Given the description of an element on the screen output the (x, y) to click on. 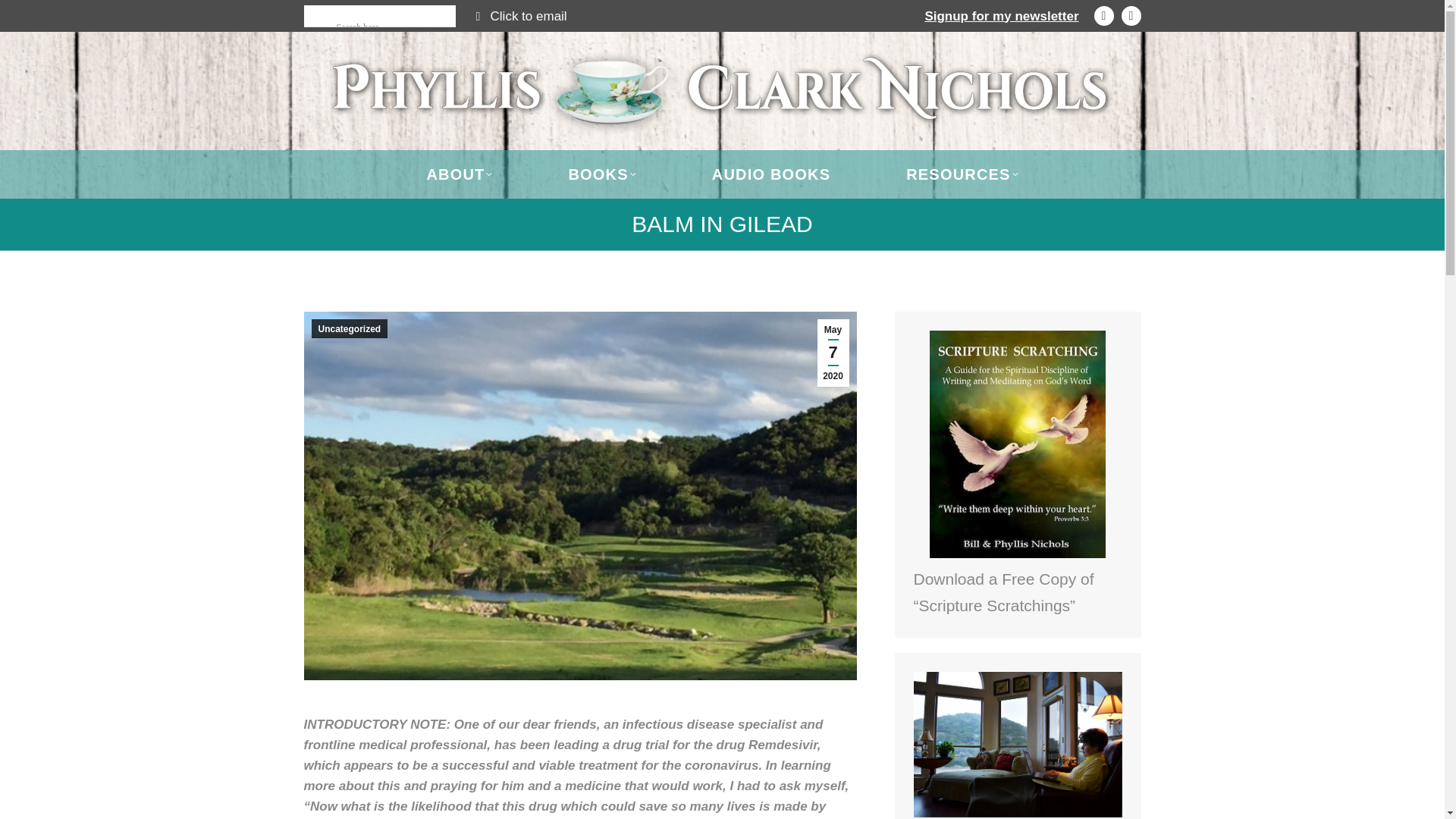
ABOUT (458, 174)
Signup for my newsletter (1001, 16)
BOOKS (600, 174)
Facebook page opens in new window (1103, 15)
Facebook page opens in new window (1103, 15)
X page opens in new window (1130, 15)
Click to email (528, 16)
X page opens in new window (1130, 15)
